Given the description of an element on the screen output the (x, y) to click on. 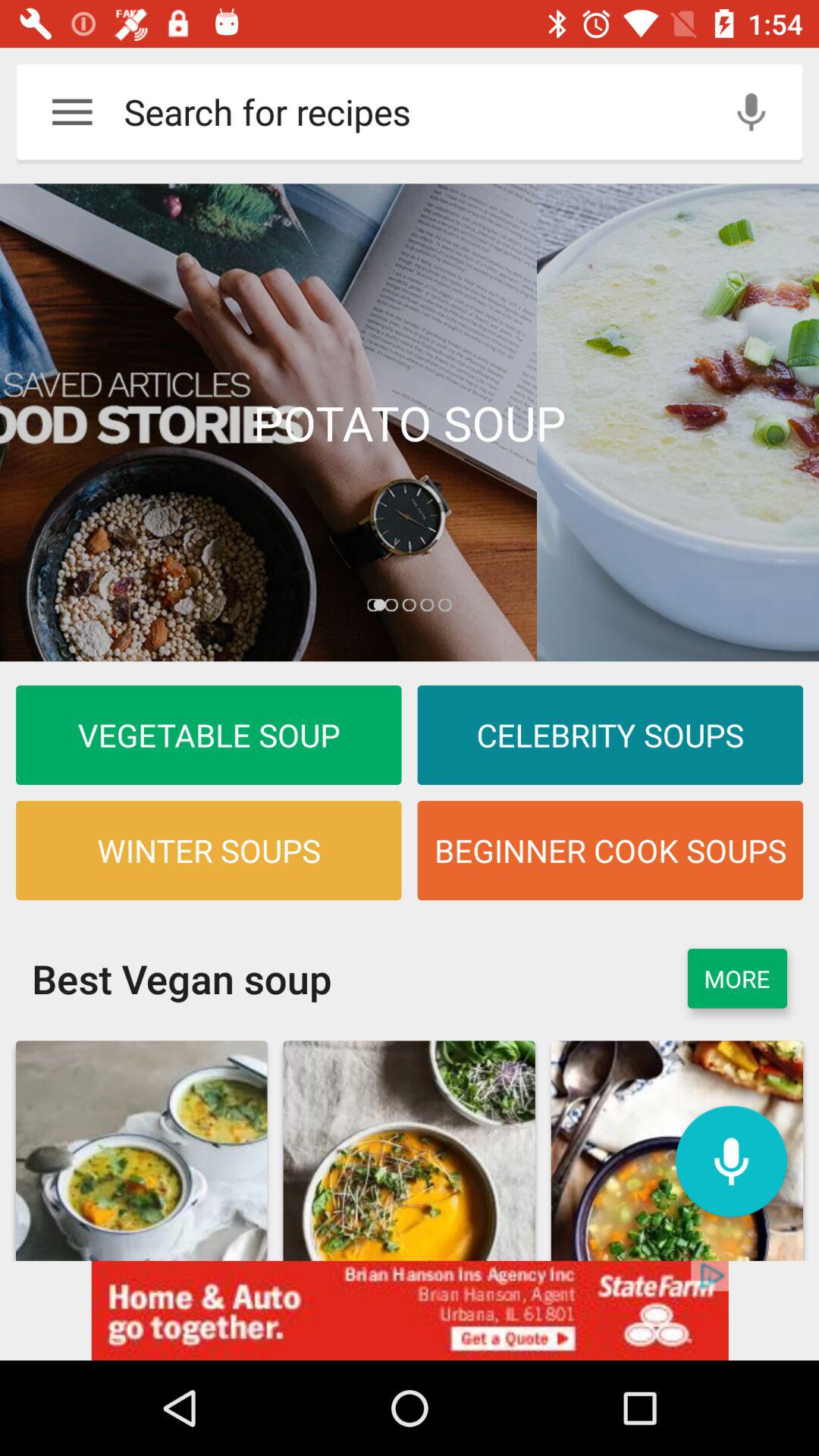
record voice (731, 1161)
